Given the description of an element on the screen output the (x, y) to click on. 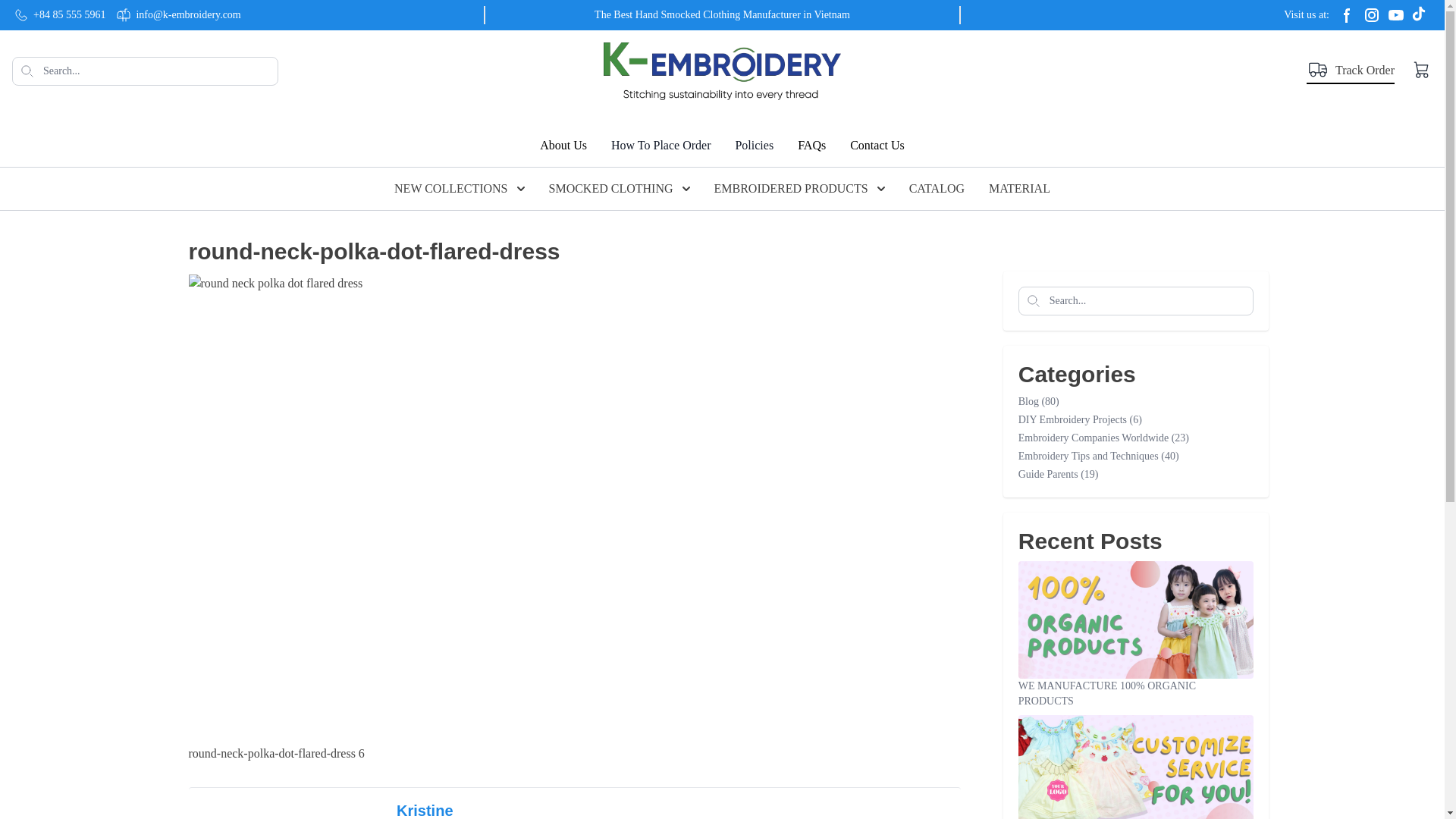
FAQs (811, 145)
MATERIAL (1018, 188)
About Us (563, 145)
Instagram (1396, 14)
EMBROIDERED PRODUCTS (799, 188)
Instagram (1371, 14)
SMOCKED CLOTHING (619, 188)
Track Order (1350, 71)
NEW COLLECTIONS (459, 188)
Track Order (1350, 71)
